Given the description of an element on the screen output the (x, y) to click on. 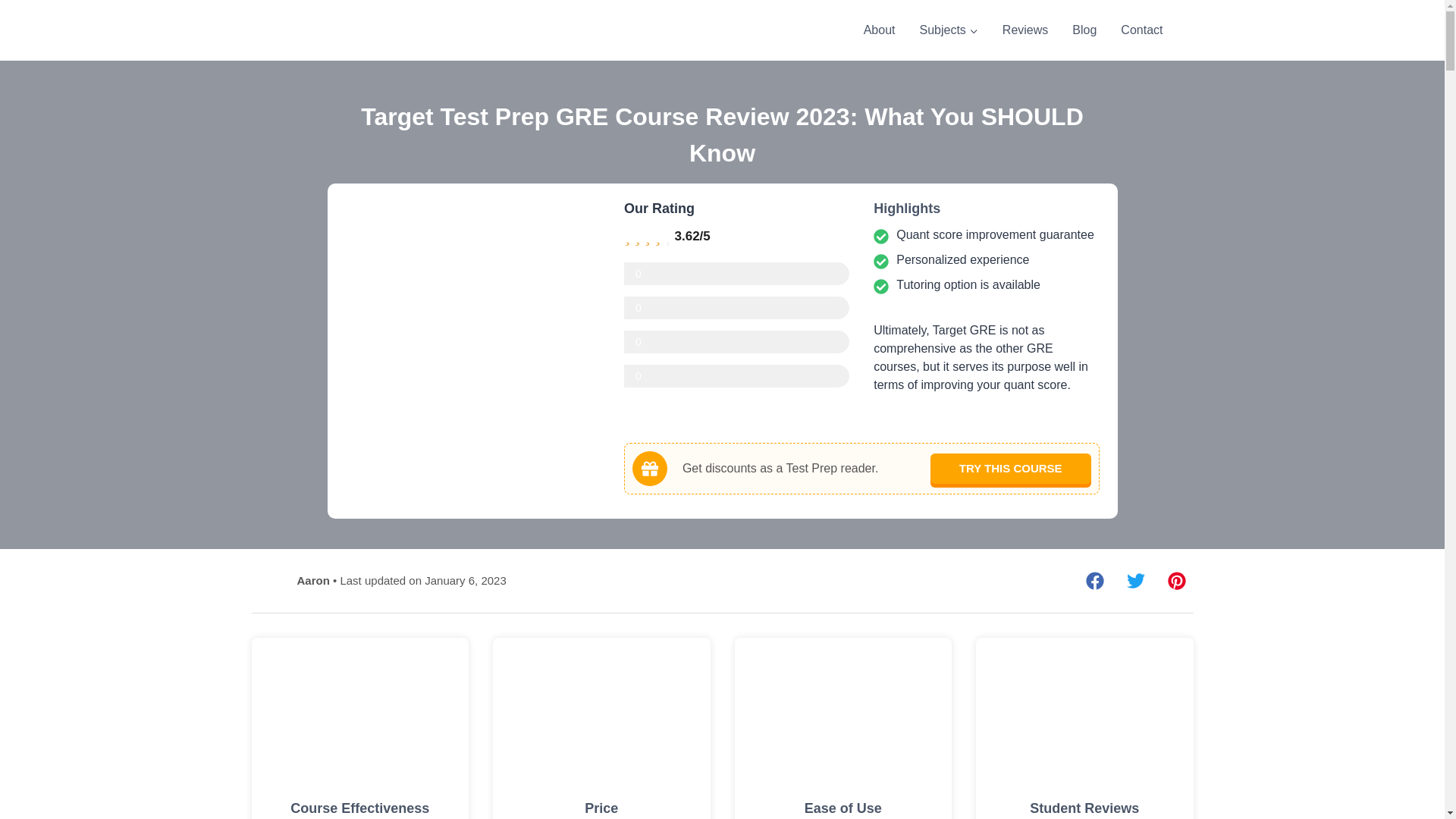
Subjects (948, 29)
Blog (1083, 29)
Get discounts as a Test Prep reader. (768, 468)
Contact (1141, 29)
TRY THIS COURSE (1010, 468)
About (879, 29)
Reviews (1024, 29)
